Given the description of an element on the screen output the (x, y) to click on. 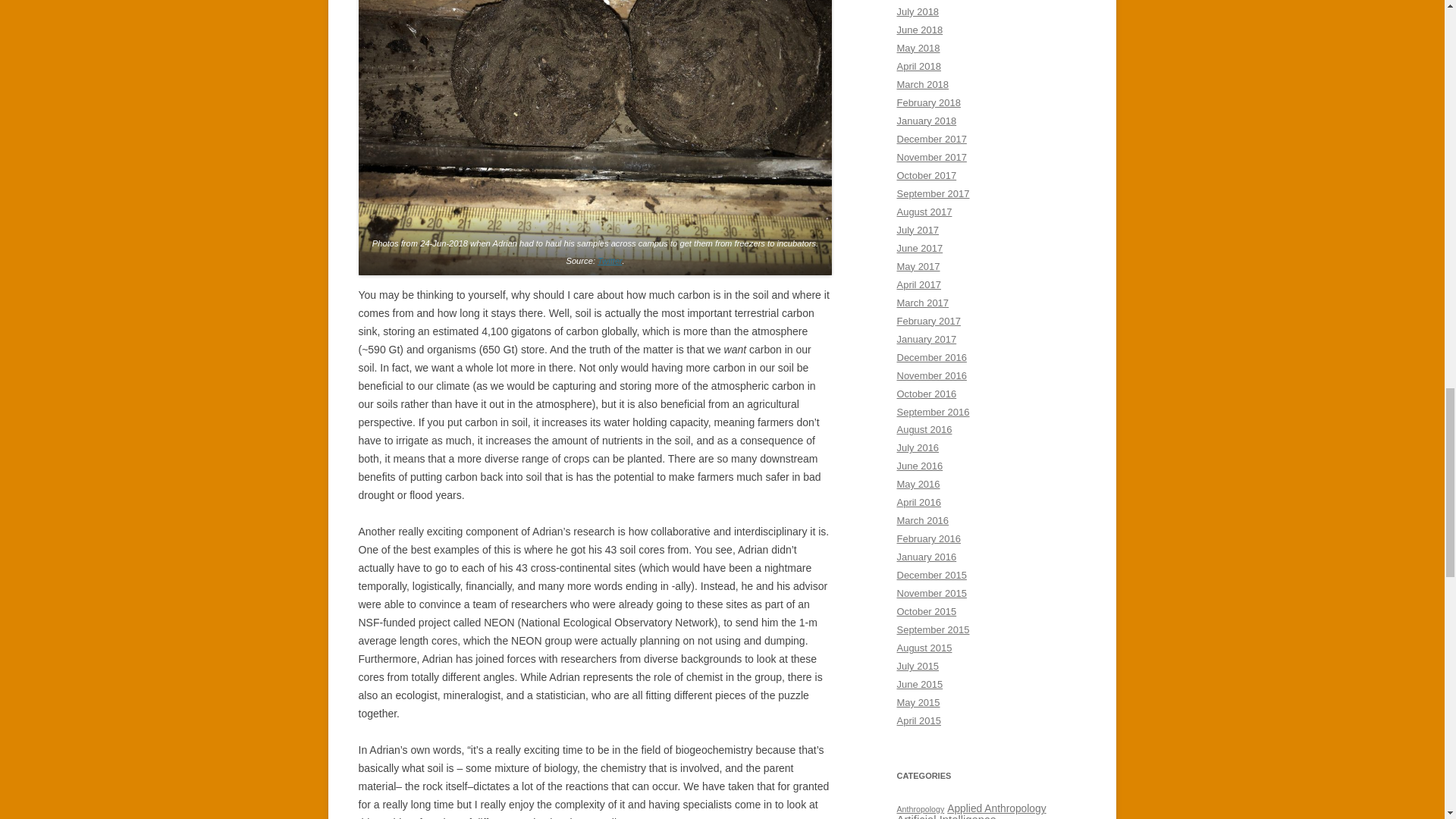
Twitter (608, 260)
